Given the description of an element on the screen output the (x, y) to click on. 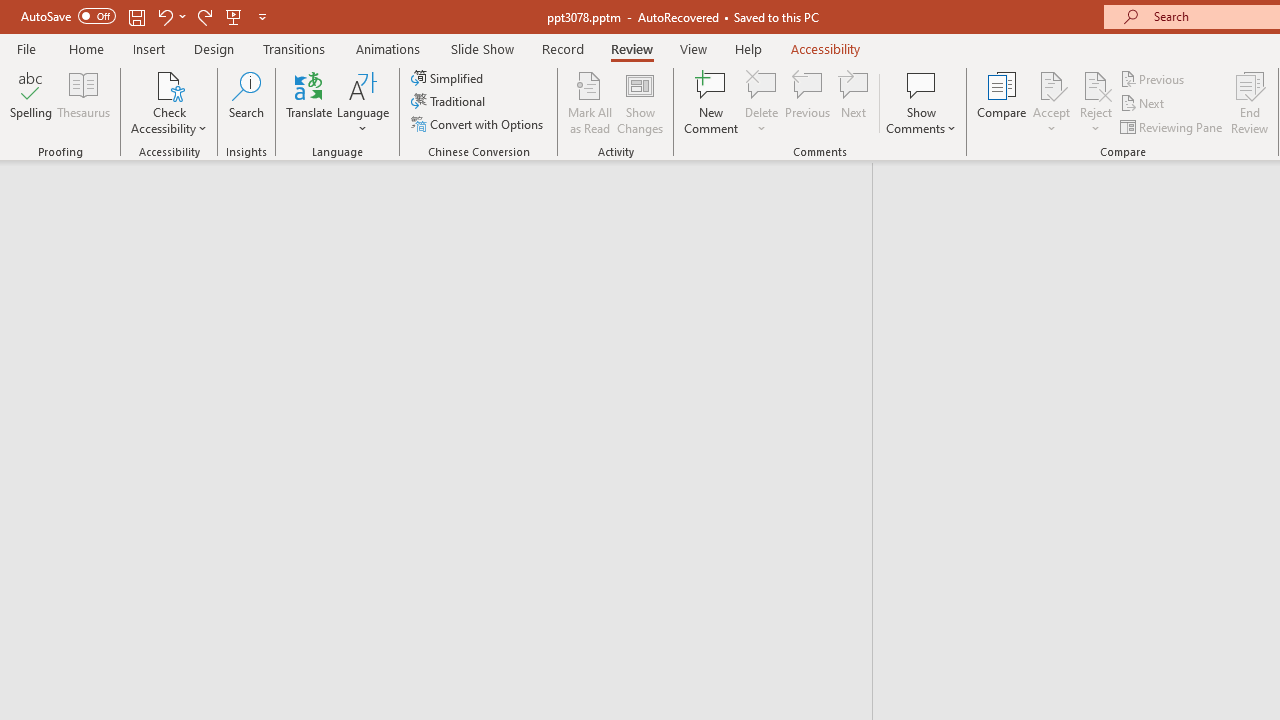
End Review (1249, 102)
Reject (1096, 102)
Previous (1153, 78)
Thesaurus... (83, 102)
Accept Change (1051, 84)
Outline (445, 202)
